Given the description of an element on the screen output the (x, y) to click on. 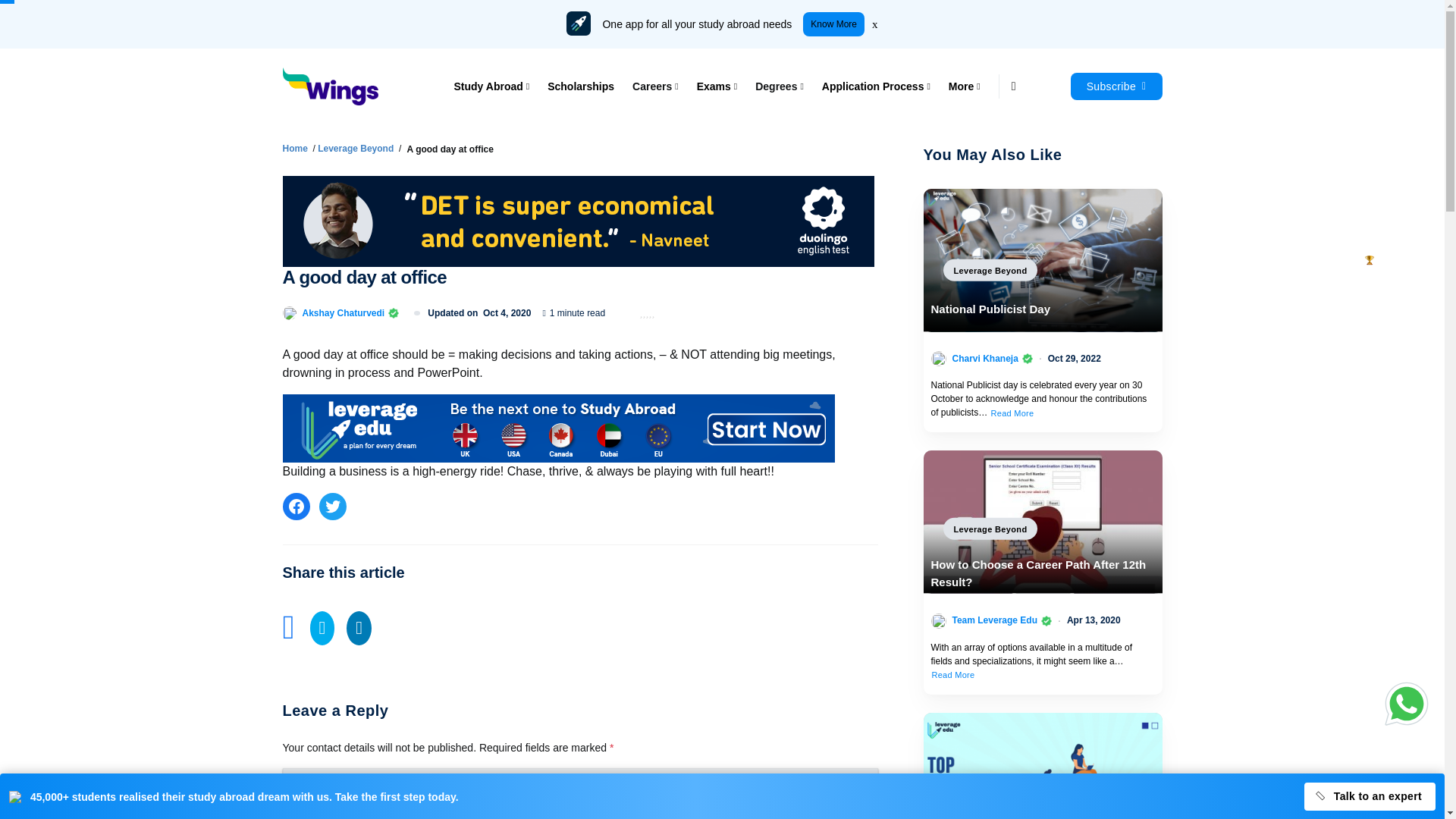
View all posts by Akshay Chaturvedi (342, 313)
View all posts by Charvi Khaneja (984, 358)
View all posts by Team Leverage Edu (995, 620)
